Given the description of an element on the screen output the (x, y) to click on. 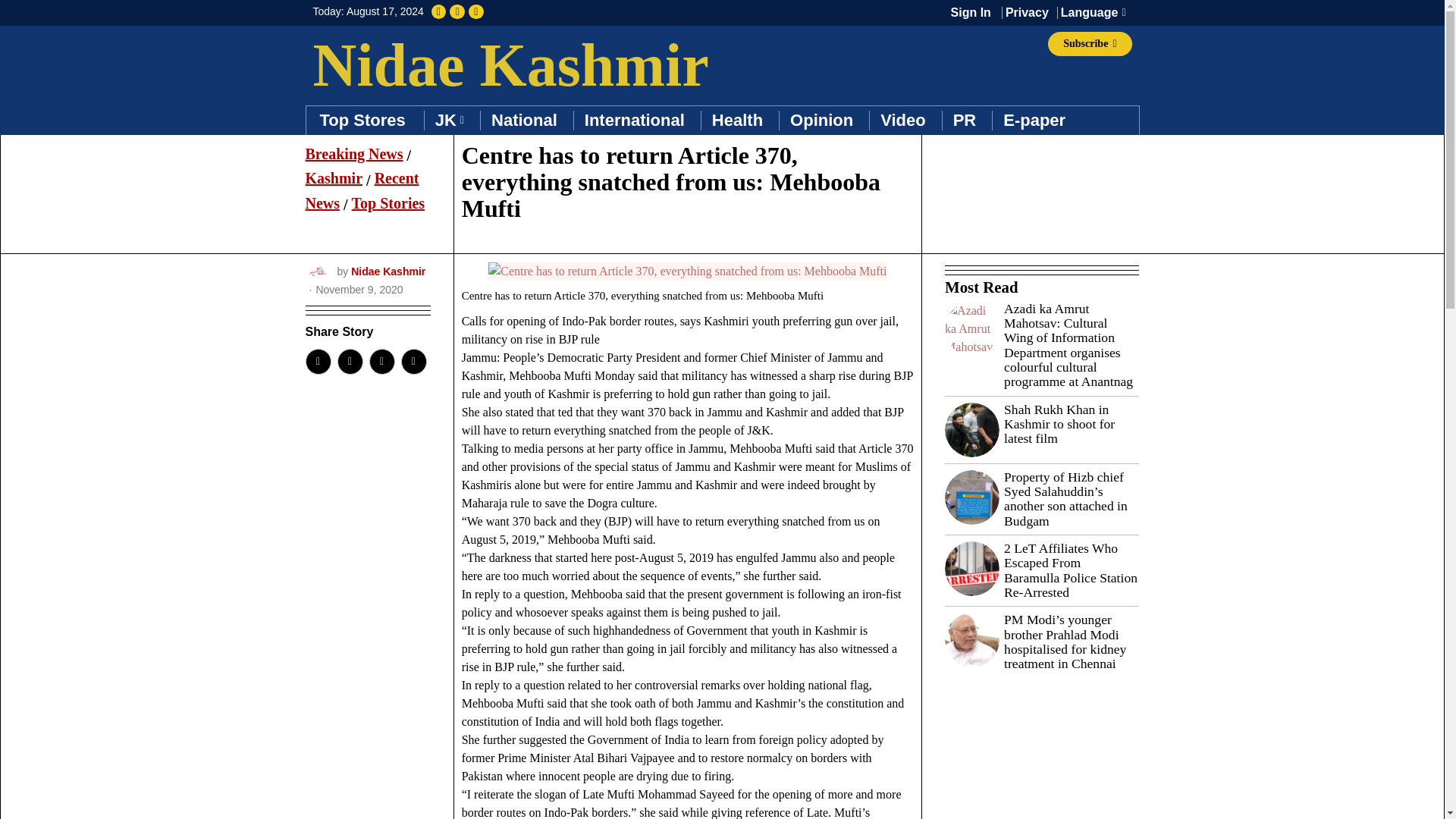
National (523, 120)
E-paper (1034, 120)
Subscribe (1089, 43)
JK (449, 120)
Top Stores (363, 120)
Kashmir (333, 177)
Opinion (821, 120)
Facebook (317, 361)
Whatsapp (381, 361)
PR (964, 120)
